Given the description of an element on the screen output the (x, y) to click on. 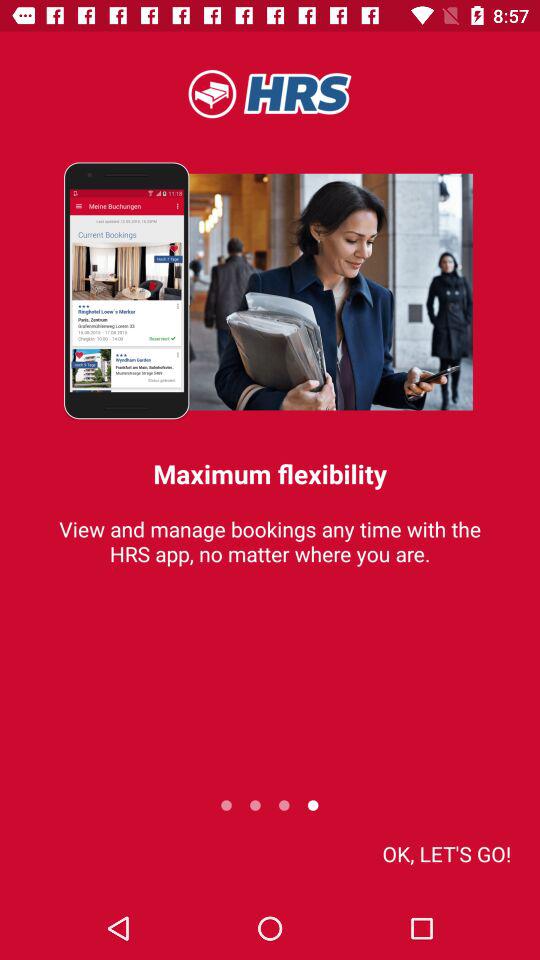
press ok let s at the bottom right corner (446, 853)
